Given the description of an element on the screen output the (x, y) to click on. 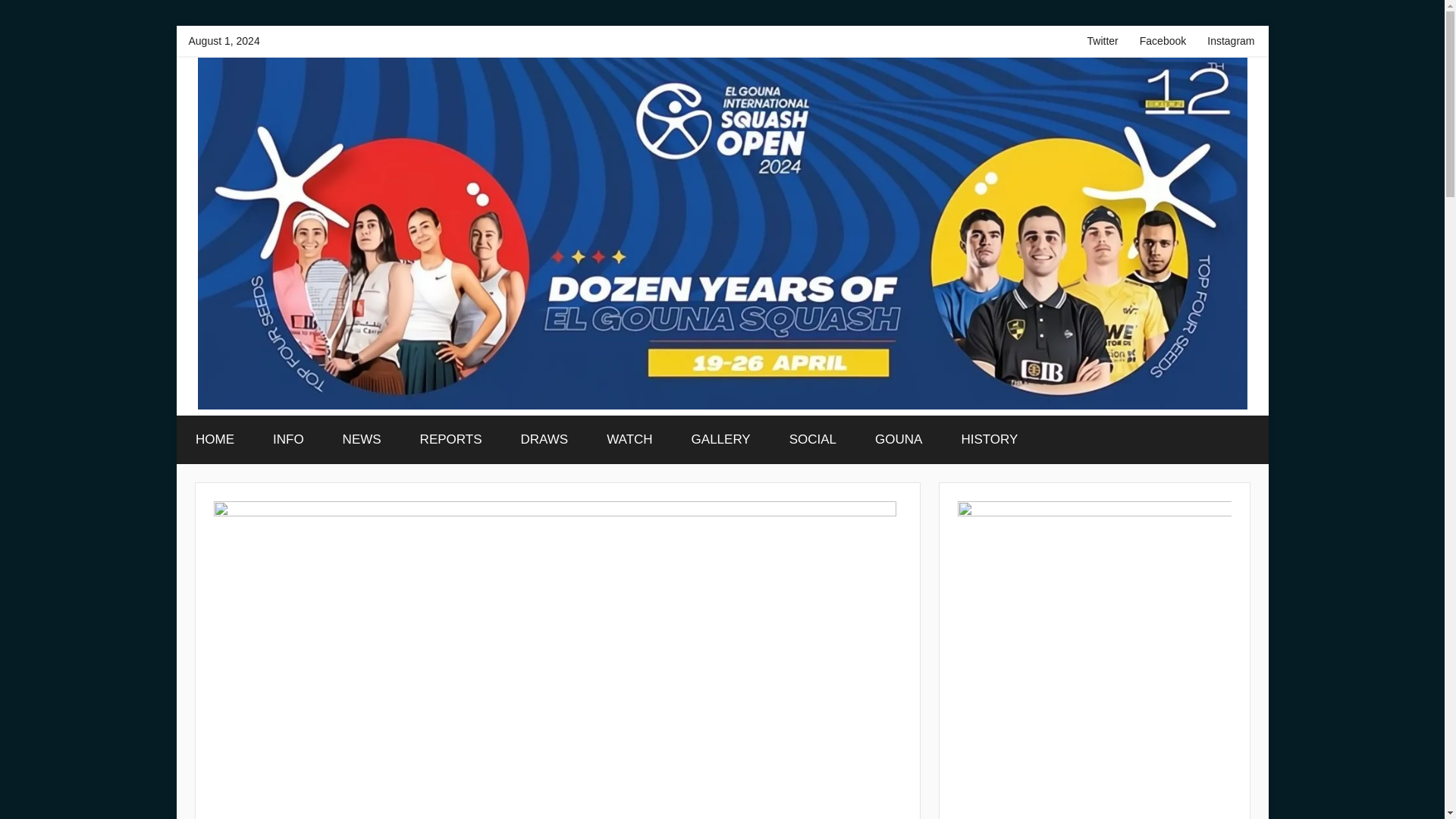
SOCIAL (813, 439)
Instagram (1230, 40)
HISTORY (989, 439)
GALLERY (720, 439)
HOME (214, 439)
REPORTS (450, 439)
INFO (288, 439)
Facebook (1162, 40)
NEWS (361, 439)
WATCH (629, 439)
GOUNA (899, 439)
Twitter (1103, 40)
DRAWS (544, 439)
